Given the description of an element on the screen output the (x, y) to click on. 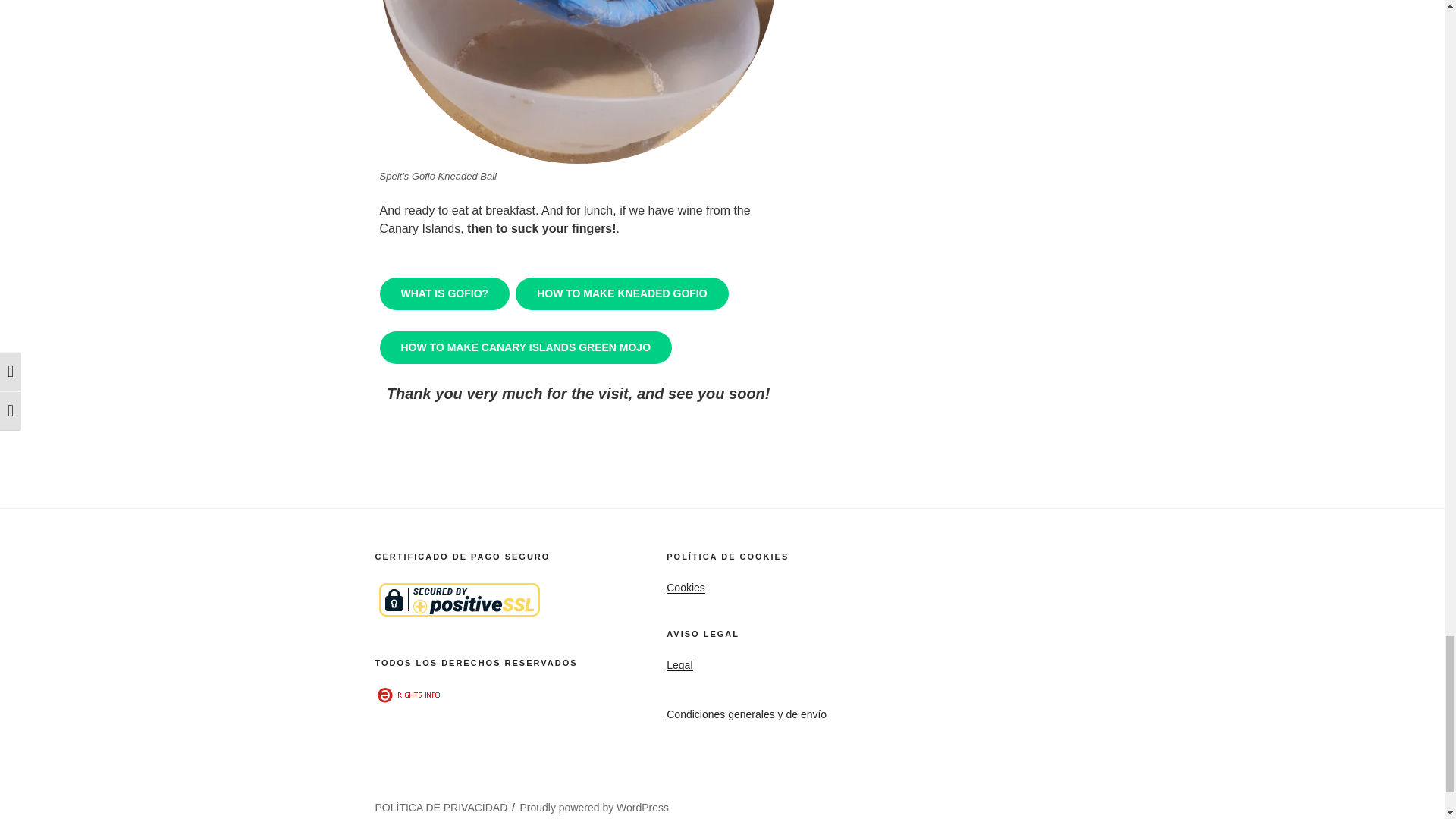
HOW TO MAKE CANARY ISLANDS GREEN MOJO (524, 347)
WHAT IS GOFIO? (443, 293)
HOW TO MAKE KNEADED GOFIO (622, 293)
